Given the description of an element on the screen output the (x, y) to click on. 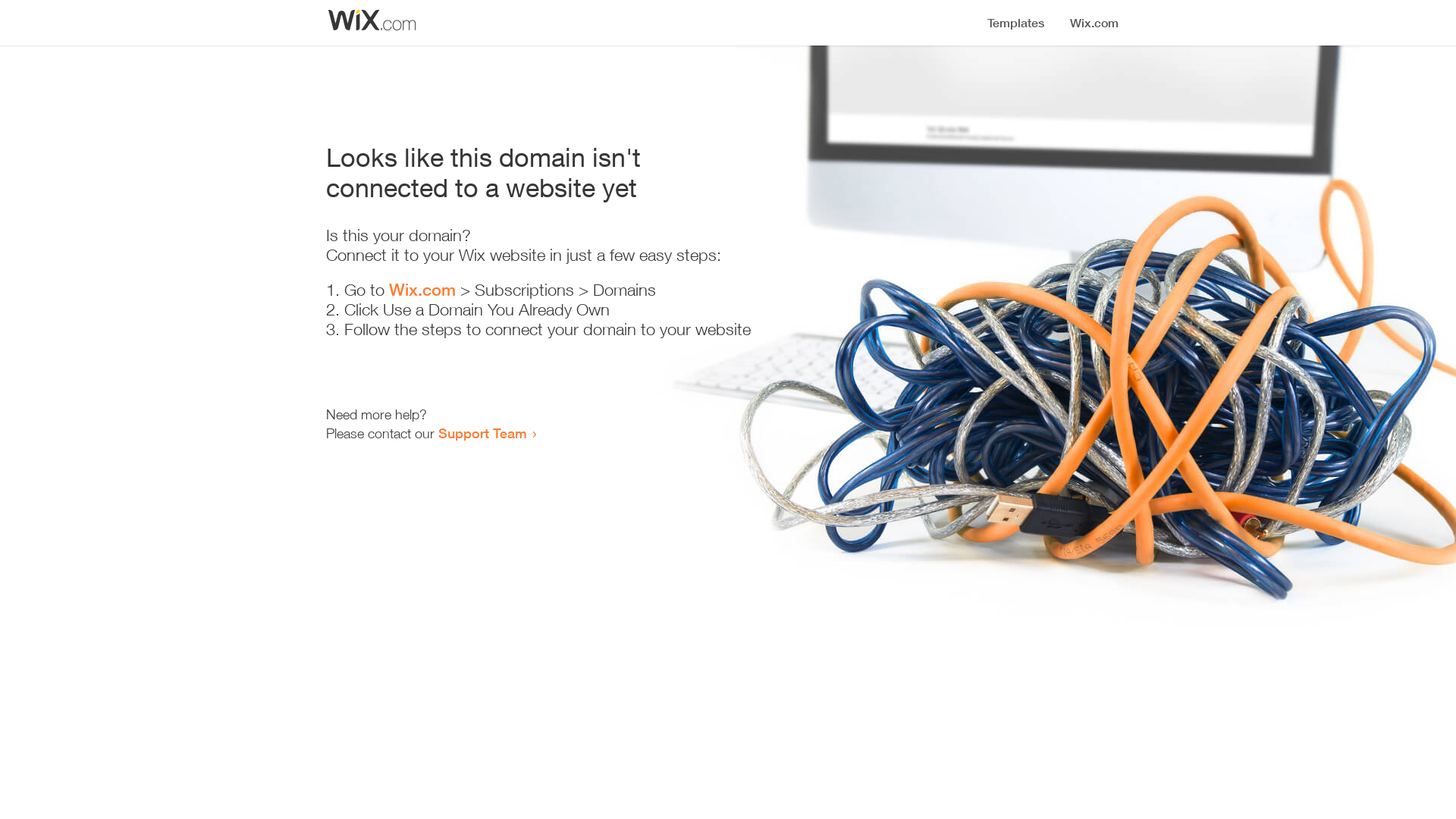
Support Team Element type: text (482, 432)
Wix.com Element type: text (422, 289)
